Given the description of an element on the screen output the (x, y) to click on. 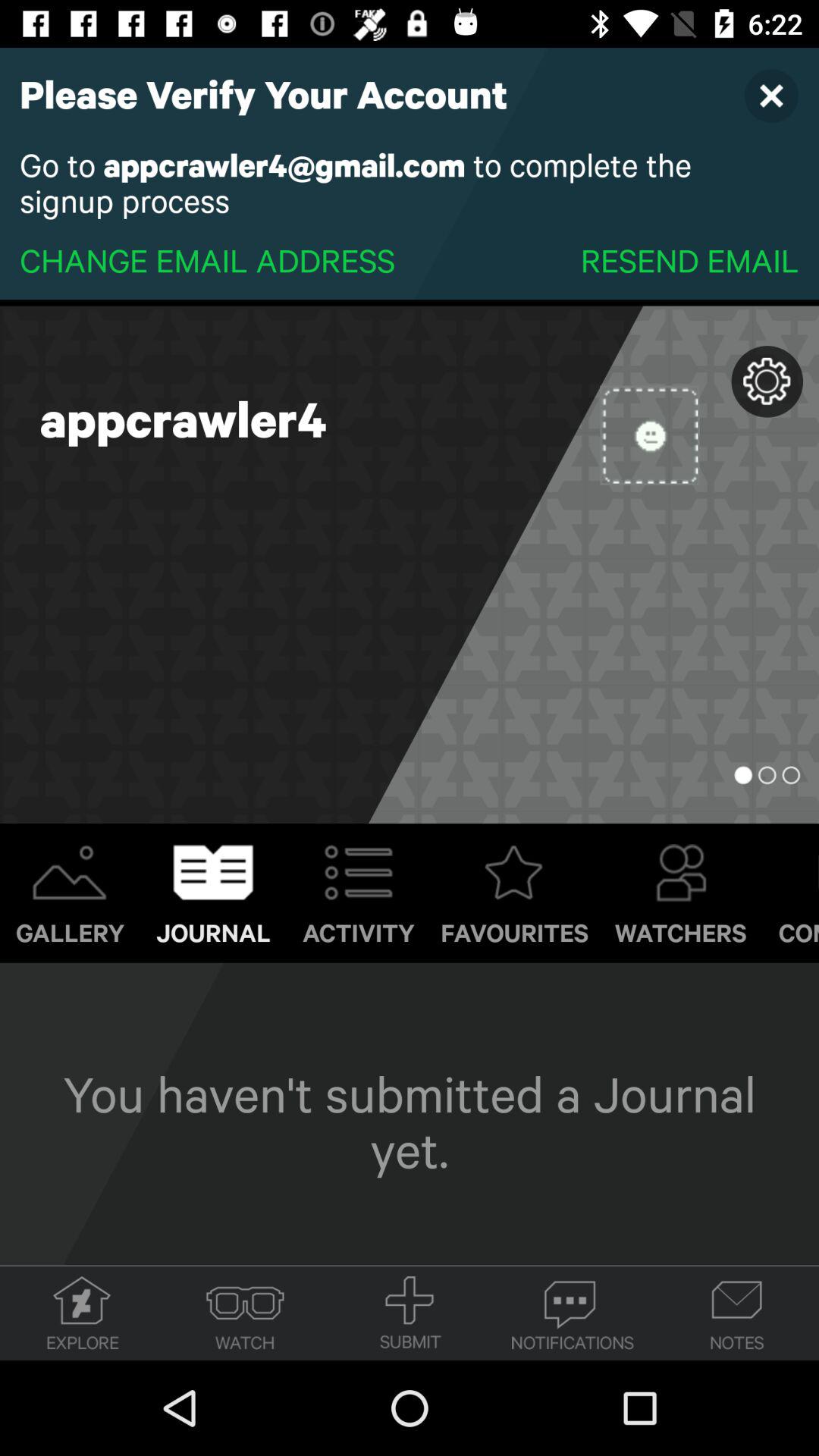
choose the item to the left of resend email (207, 259)
